Given the description of an element on the screen output the (x, y) to click on. 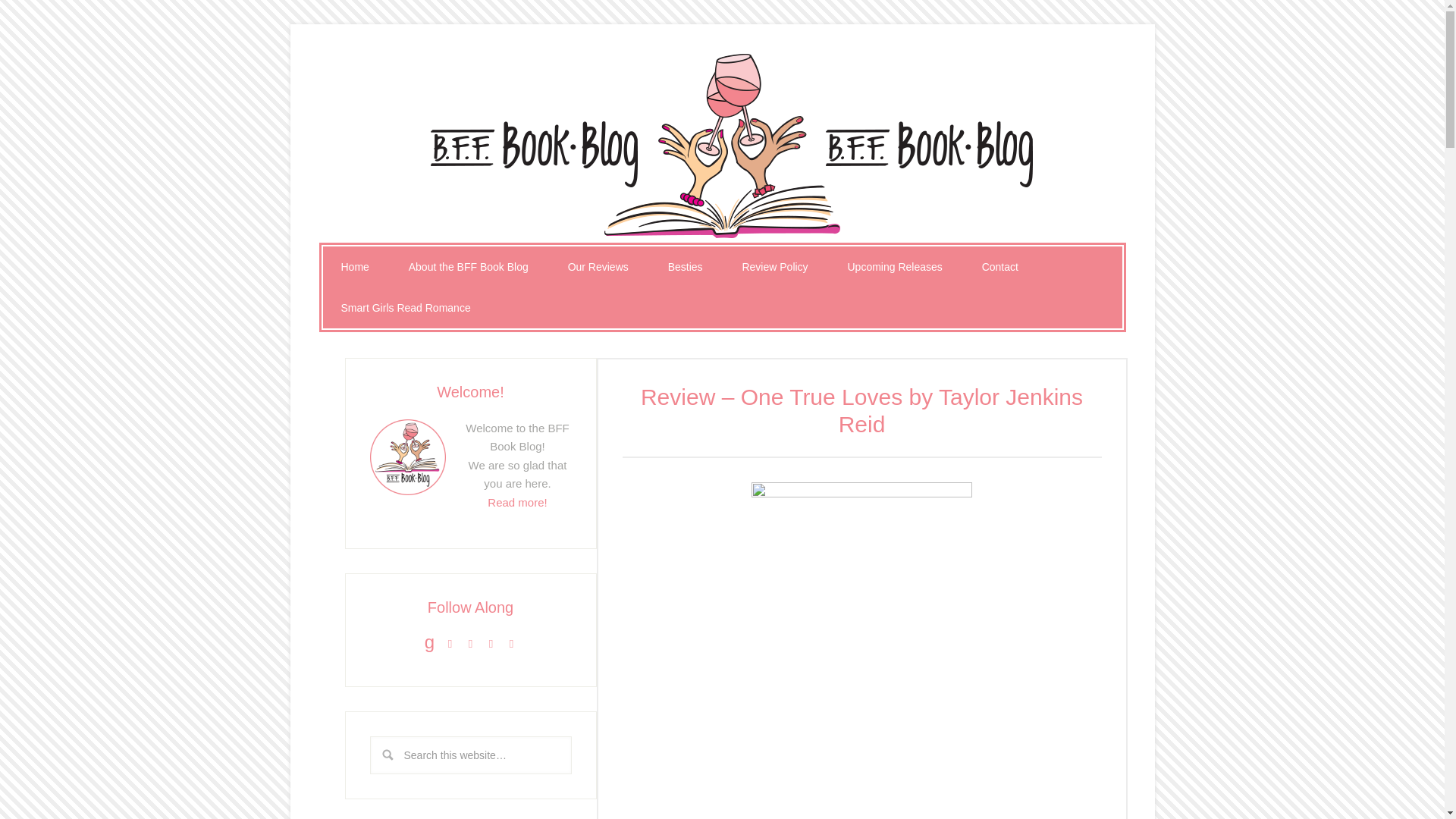
Besties (684, 266)
Read more! (517, 502)
Our Reviews (598, 266)
Home (355, 266)
Smart Girls Read Romance (406, 307)
g (429, 643)
About (517, 502)
Contact (999, 266)
